Given the description of an element on the screen output the (x, y) to click on. 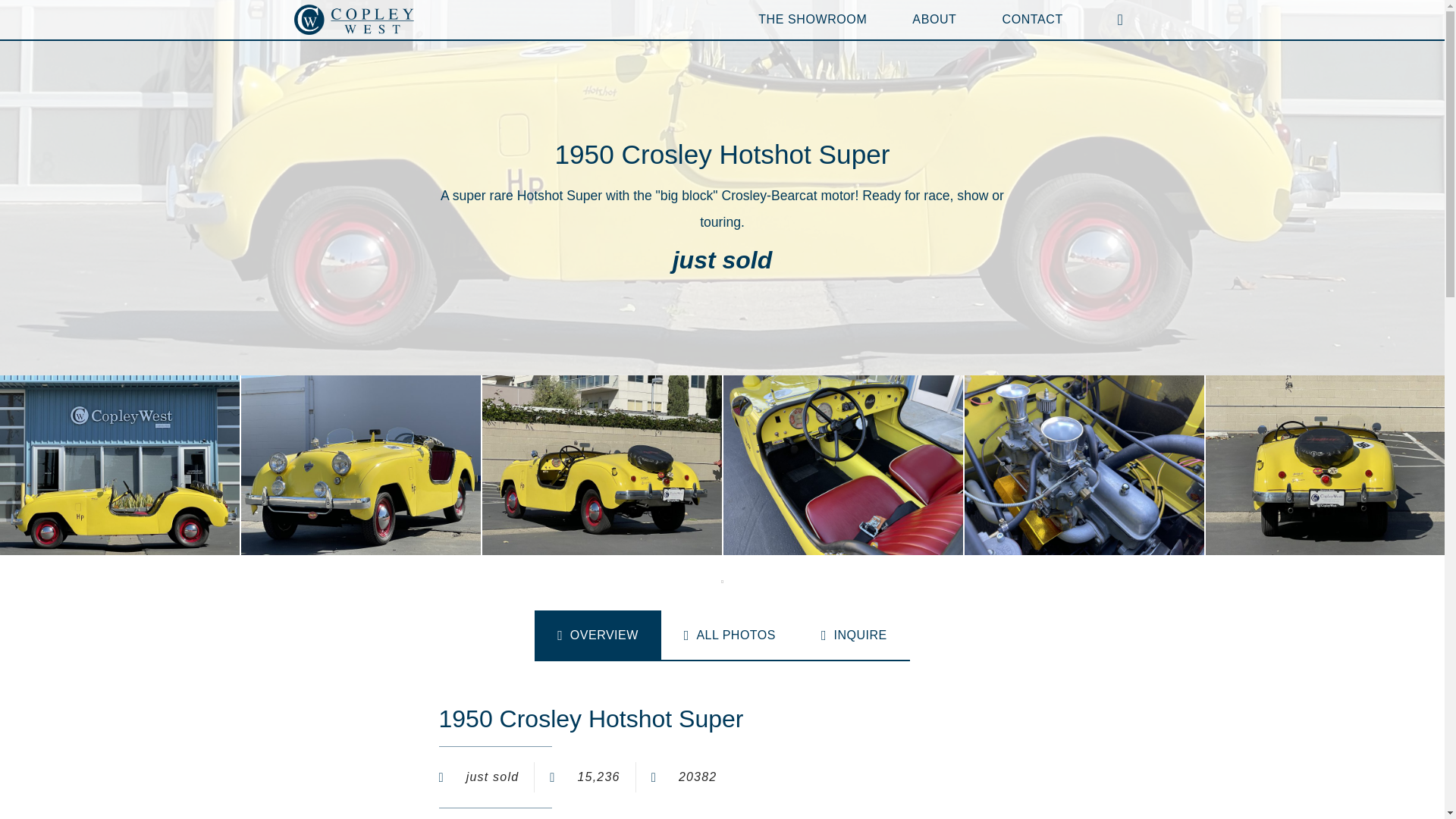
CONTACT (1031, 19)
ABOUT (933, 19)
THE SHOWROOM (812, 19)
